Given the description of an element on the screen output the (x, y) to click on. 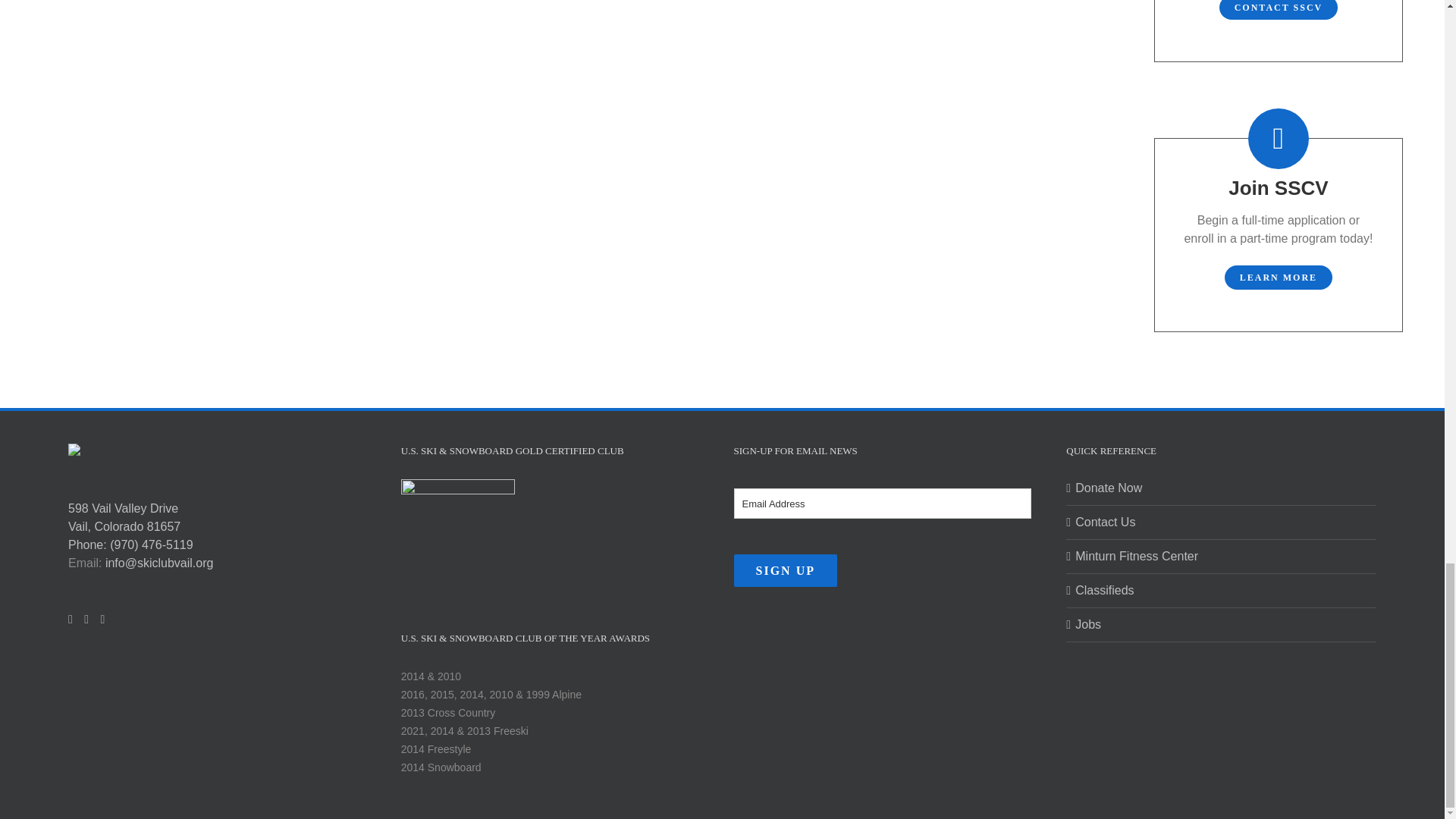
Sign Up (785, 570)
